Given the description of an element on the screen output the (x, y) to click on. 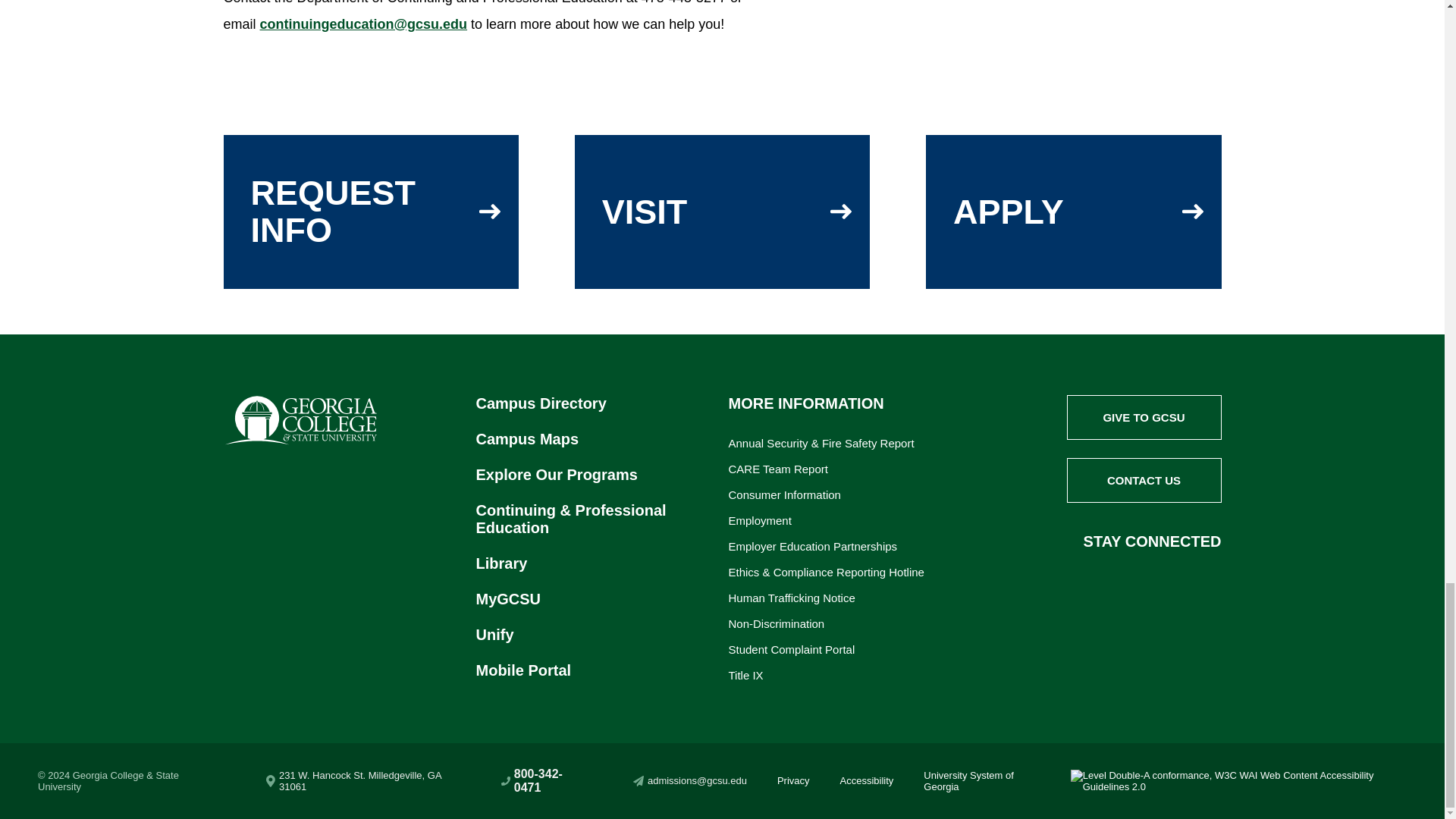
Explanation of WCAG 2.0 Level Double-A Conformance (1238, 780)
Click for home page (300, 421)
